Given the description of an element on the screen output the (x, y) to click on. 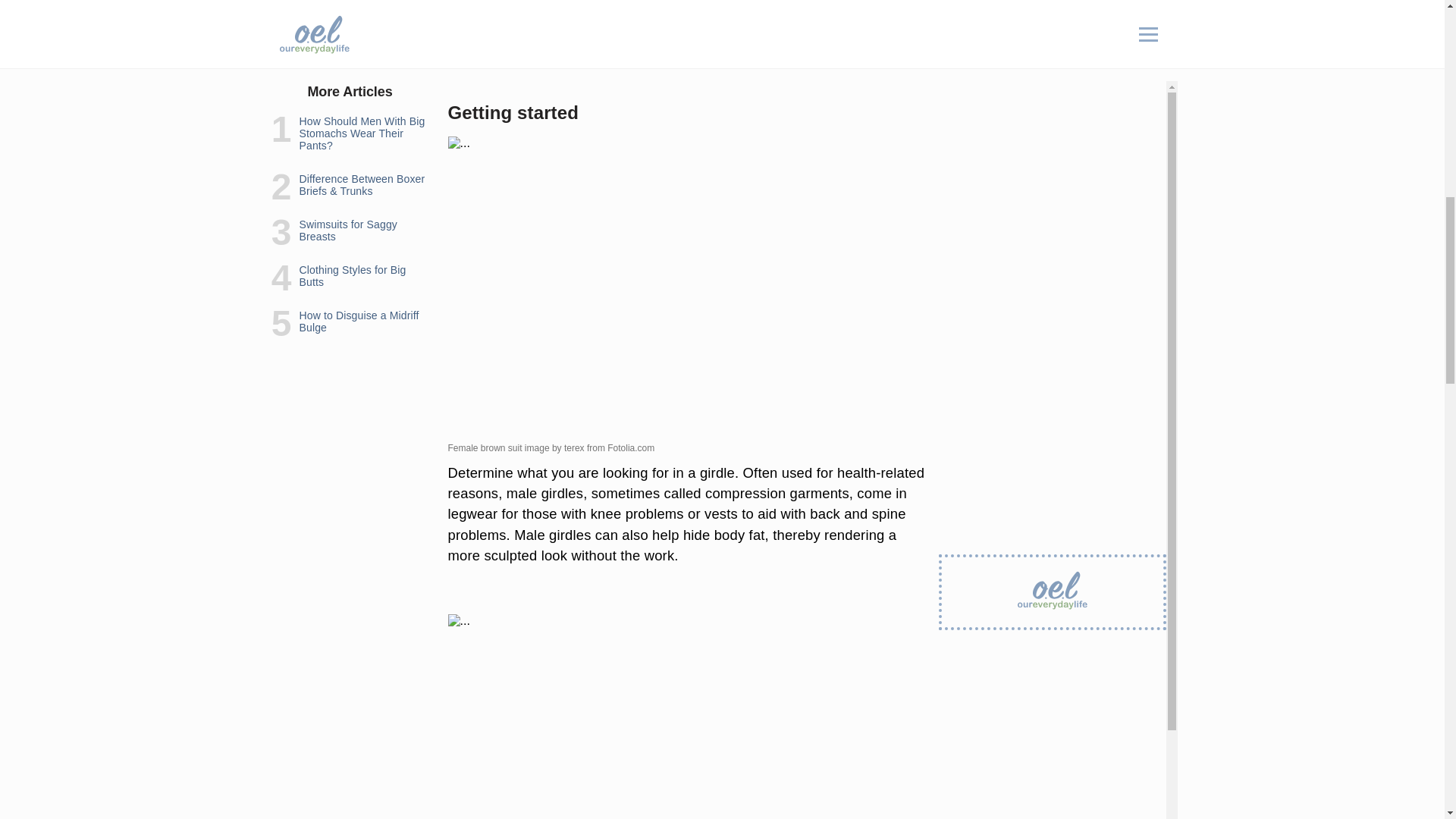
Fotolia.com (630, 448)
